Given the description of an element on the screen output the (x, y) to click on. 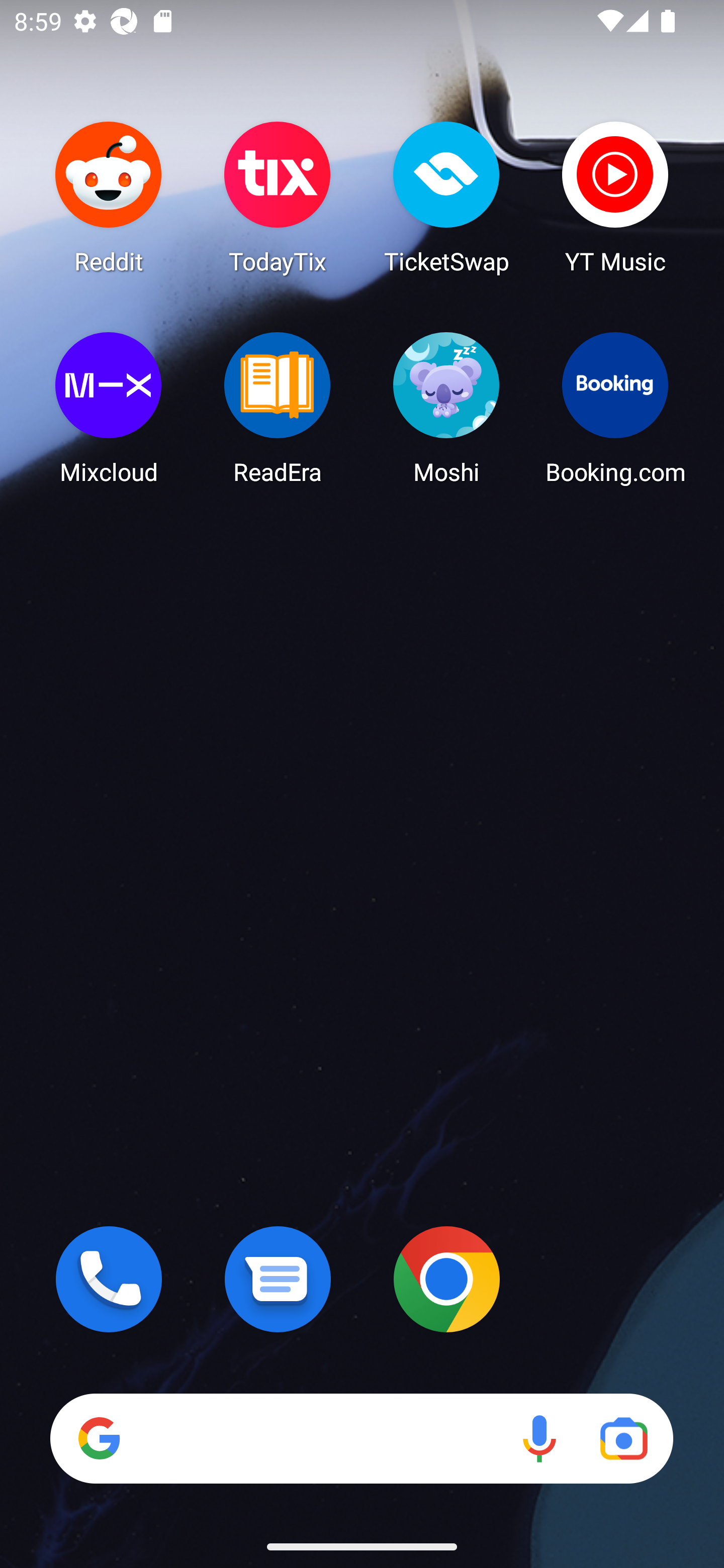
Reddit (108, 196)
TodayTix (277, 196)
TicketSwap (445, 196)
YT Music (615, 196)
Mixcloud (108, 407)
ReadEra (277, 407)
Moshi (445, 407)
Booking.com (615, 407)
Phone (108, 1279)
Messages (277, 1279)
Chrome (446, 1279)
Search Voice search Google Lens (361, 1438)
Voice search (539, 1438)
Google Lens (623, 1438)
